Given the description of an element on the screen output the (x, y) to click on. 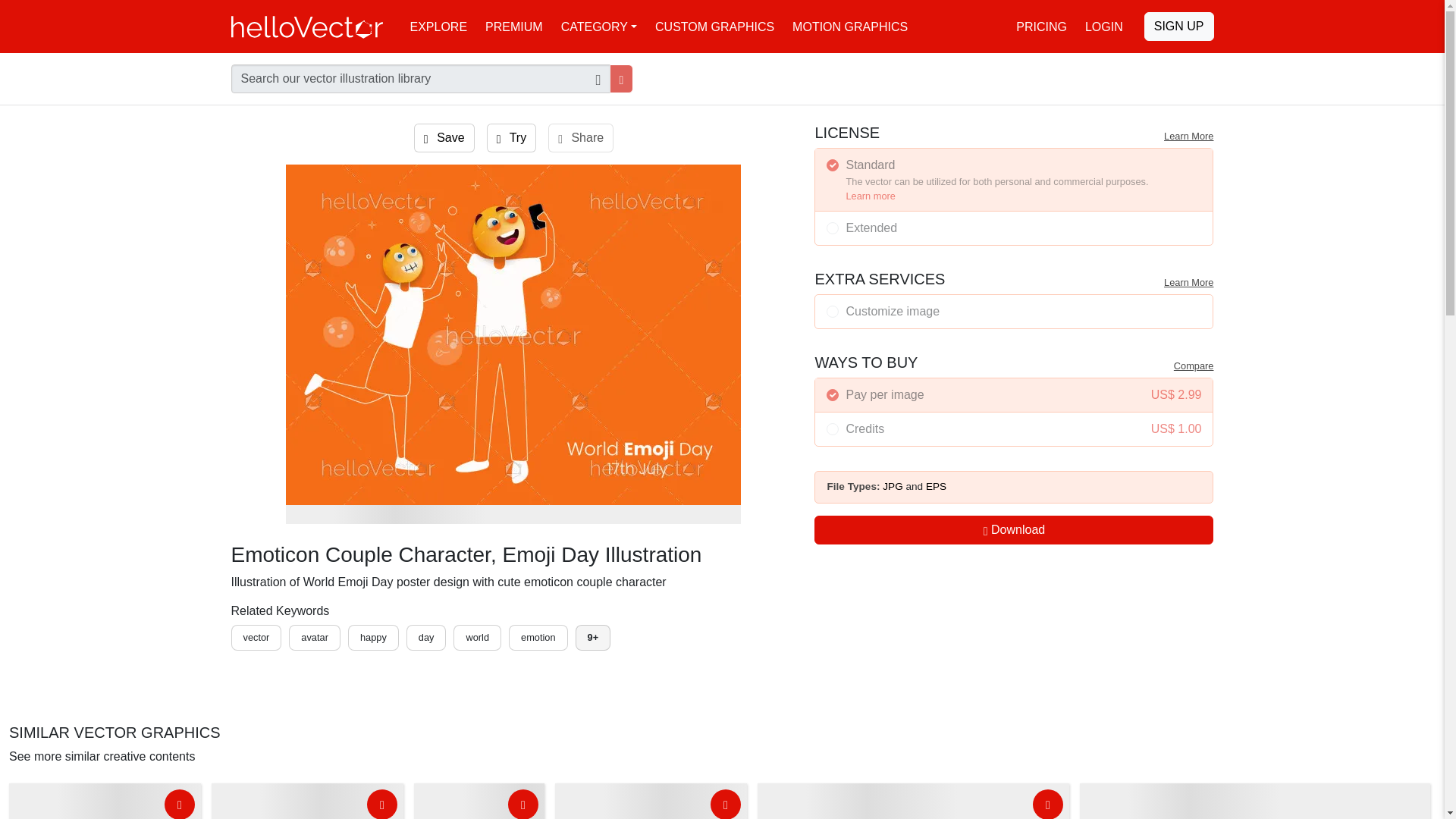
PREMIUM (513, 26)
1 (832, 164)
Learn more about standard license (870, 195)
Try (511, 137)
Save (443, 137)
MOTION GRAPHICS (850, 26)
SIGN UP (1179, 26)
Share (580, 137)
Learn more about terms and conditions (1187, 282)
2 (832, 227)
1 (832, 395)
Learn more about image license (1187, 135)
PRICING (1041, 26)
EXPLORE (438, 26)
2 (832, 428)
